Given the description of an element on the screen output the (x, y) to click on. 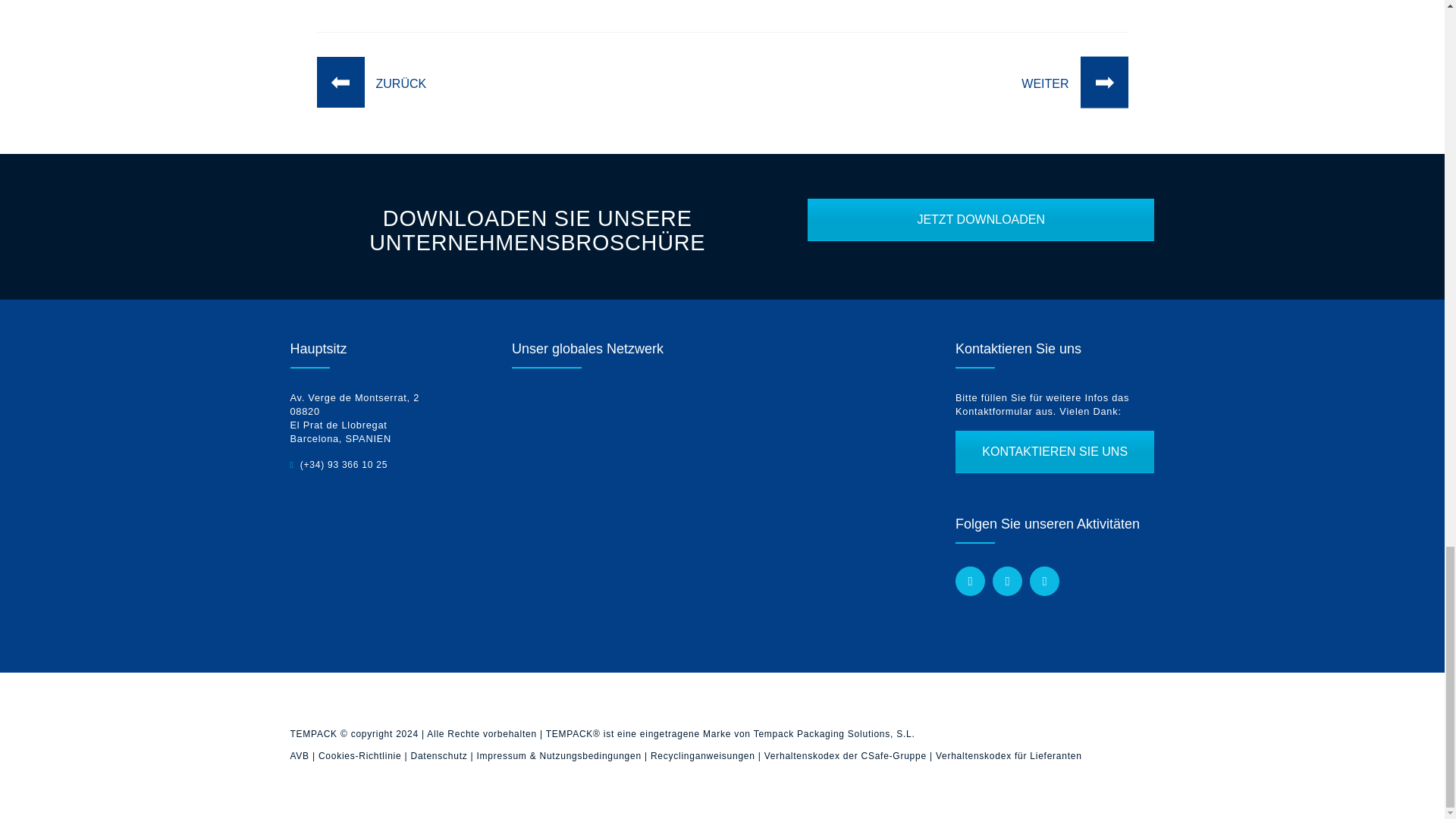
Downloaden Unternehmenbroschuere (981, 219)
Newsletter Signup (1054, 451)
tempack-karte-fusszeile-deutsch-weiss (685, 507)
